Given the description of an element on the screen output the (x, y) to click on. 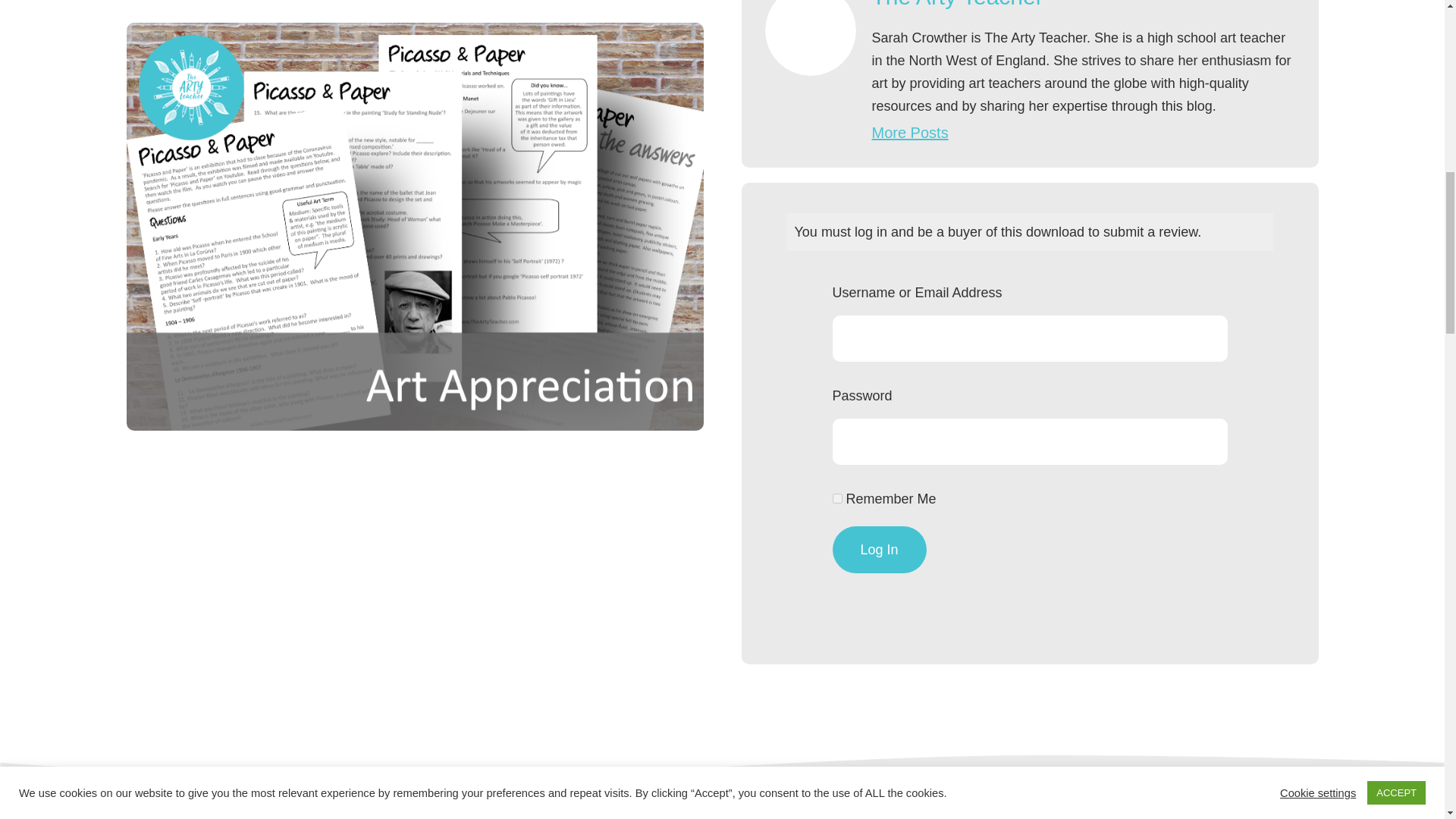
forever (837, 498)
The Arty Teacher (957, 4)
More posts by The Arty Teacher (910, 132)
Log In (879, 549)
